Given the description of an element on the screen output the (x, y) to click on. 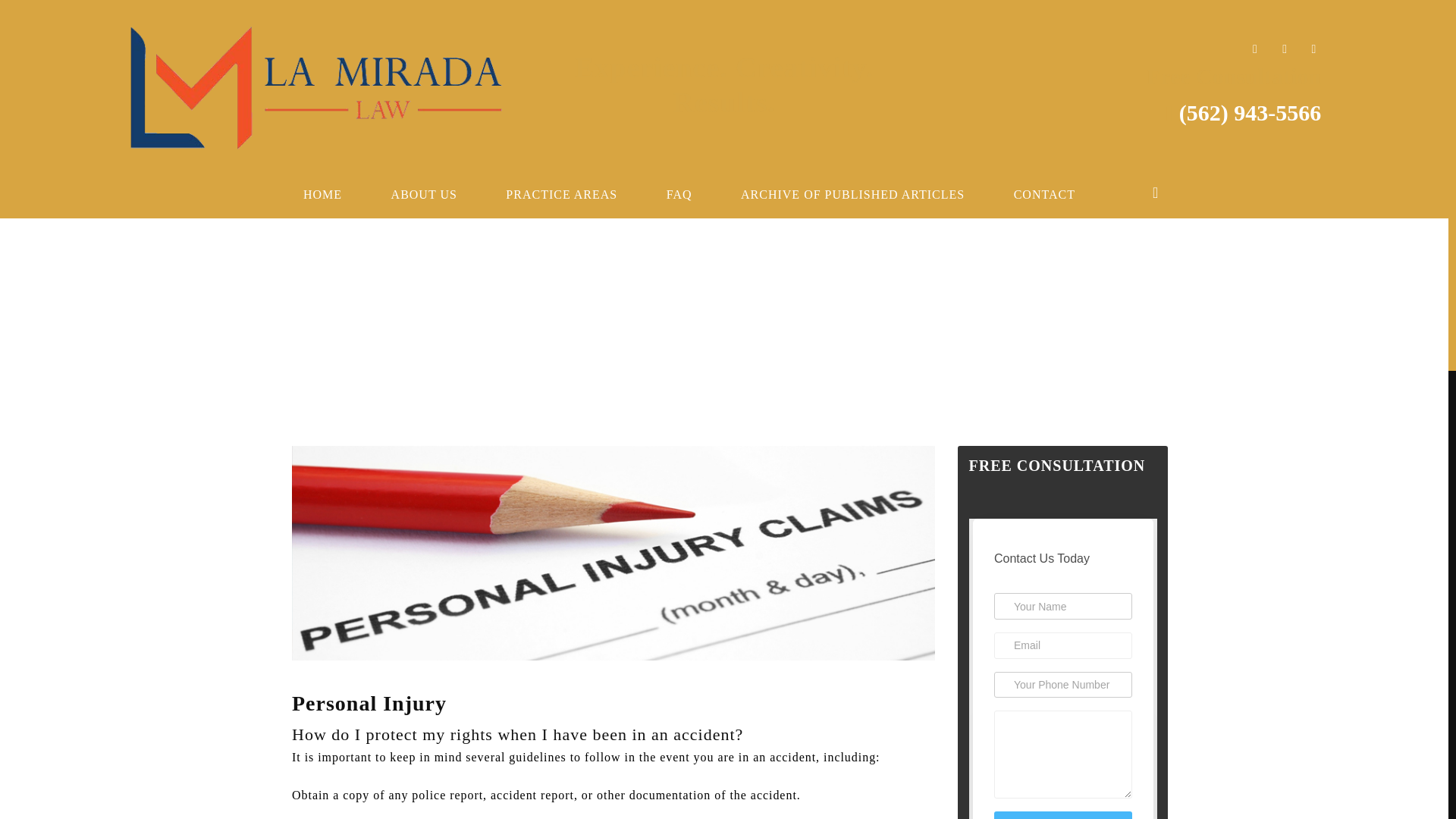
HOME (323, 194)
PRACTICE AREAS (561, 194)
Home (1230, 312)
ABOUT US (424, 194)
FAQ (678, 194)
Search (37, 17)
CONTACT (1044, 194)
ARCHIVE OF PUBLISHED ARTICLES (852, 194)
